Given the description of an element on the screen output the (x, y) to click on. 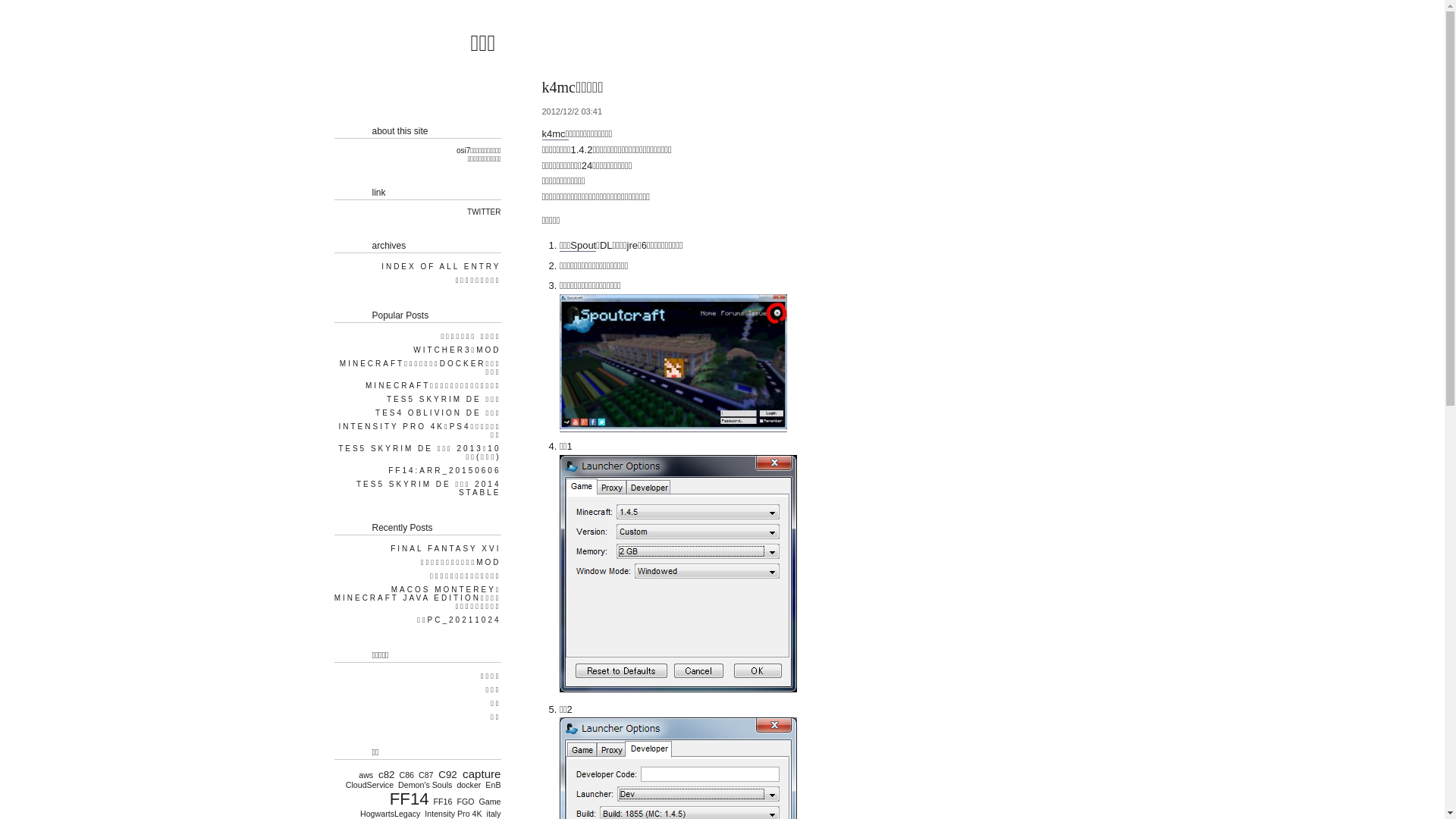
docker Element type: text (467, 784)
C92 Element type: text (445, 774)
c82 Element type: text (385, 774)
Game Element type: text (488, 801)
aws Element type: text (364, 774)
C87 Element type: text (424, 774)
FGO Element type: text (463, 801)
capture Element type: text (480, 773)
INDEX OF ALL ENTRY Element type: text (439, 266)
Demon's Souls Element type: text (423, 784)
FF14 Element type: text (406, 798)
EnB Element type: text (491, 784)
CloudService Element type: text (368, 784)
FF16 Element type: text (440, 801)
C86 Element type: text (405, 774)
FF14:ARR_20150606 Element type: text (442, 470)
TWITTER Element type: text (482, 211)
FINAL FANTASY XVI Element type: text (444, 548)
